Given the description of an element on the screen output the (x, y) to click on. 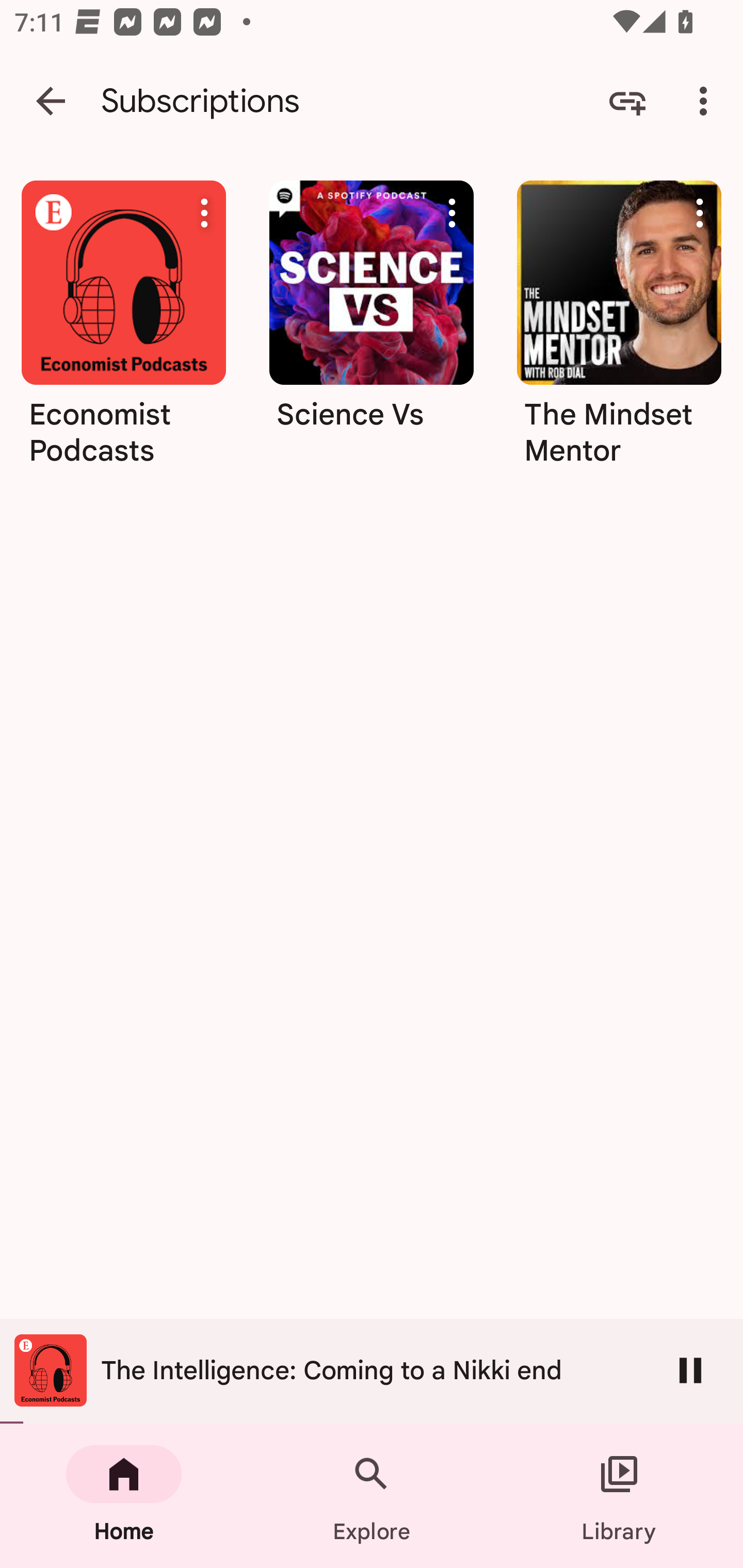
Navigate up (50, 101)
Add by RSS feed (626, 101)
More options (706, 101)
Economist Podcasts More actions Economist Podcasts (123, 329)
Science Vs More actions Science Vs (371, 329)
The Mindset Mentor More actions The Mindset Mentor (619, 329)
More actions (203, 213)
More actions (452, 213)
More actions (699, 213)
Pause (690, 1370)
Explore (371, 1495)
Library (619, 1495)
